Given the description of an element on the screen output the (x, y) to click on. 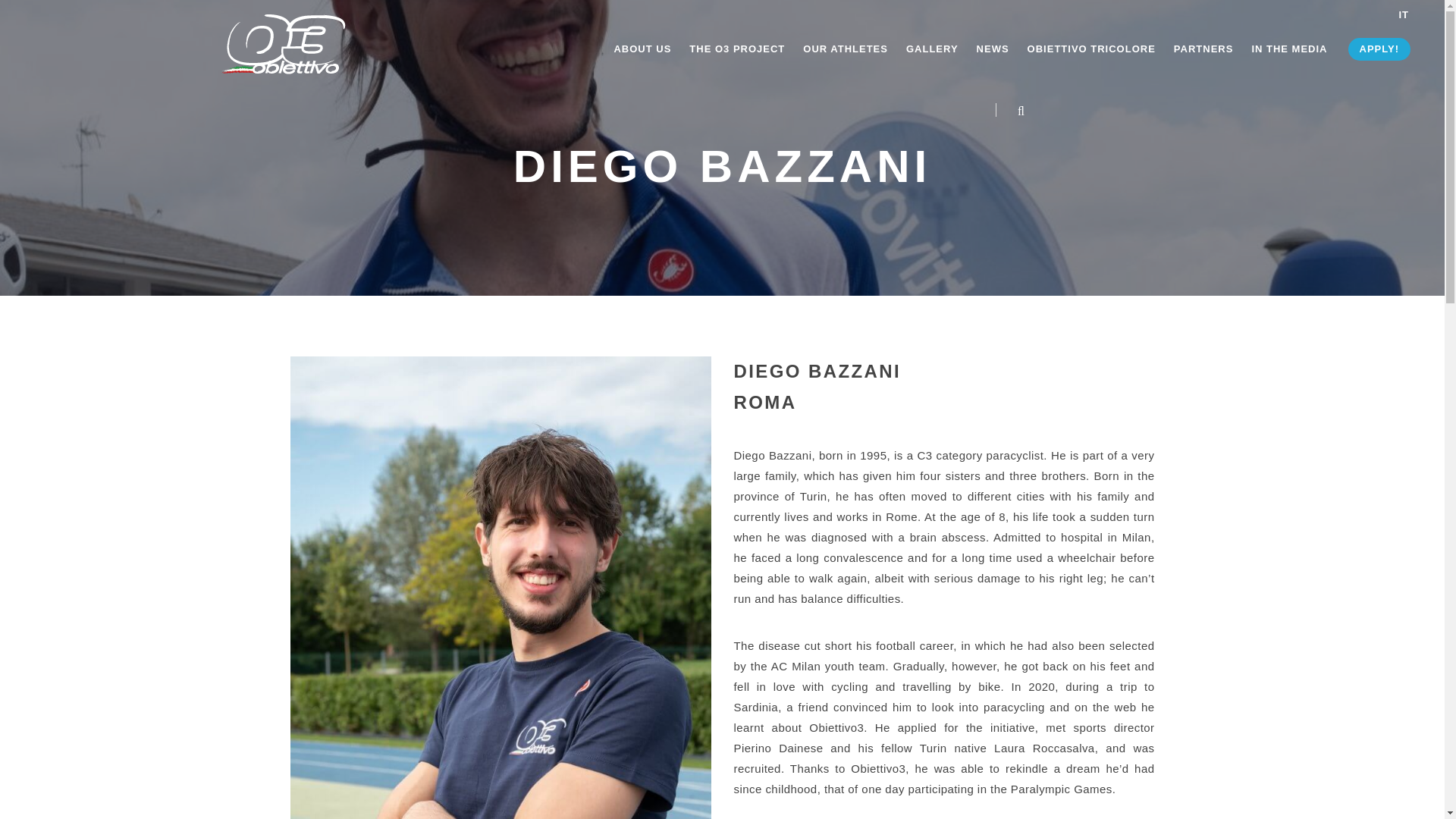
IN THE MEDIA (1288, 48)
OBIETTIVO TRICOLORE (1091, 48)
ABOUT US (641, 48)
OUR ATHLETES (845, 48)
APPLY! (1379, 48)
THE O3 PROJECT (736, 48)
GALLERY (931, 48)
NEWS (992, 48)
PARTNERS (1203, 48)
